Given the description of an element on the screen output the (x, y) to click on. 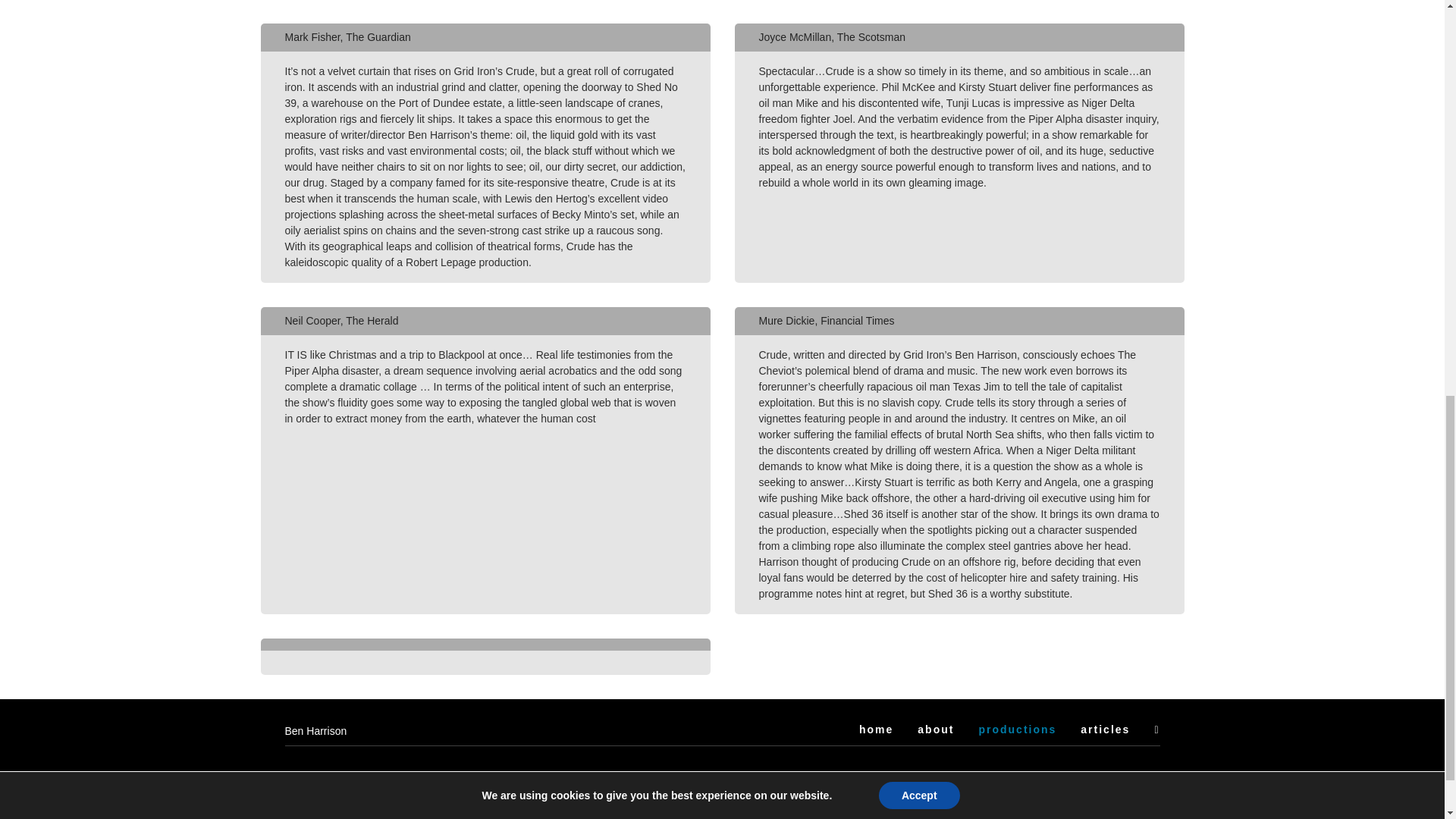
home (876, 728)
Red Ink (1140, 806)
Ben Harrison (316, 731)
about (935, 728)
Privacy Policy (613, 777)
articles (1104, 728)
productions (1017, 730)
Contact (303, 777)
